Given the description of an element on the screen output the (x, y) to click on. 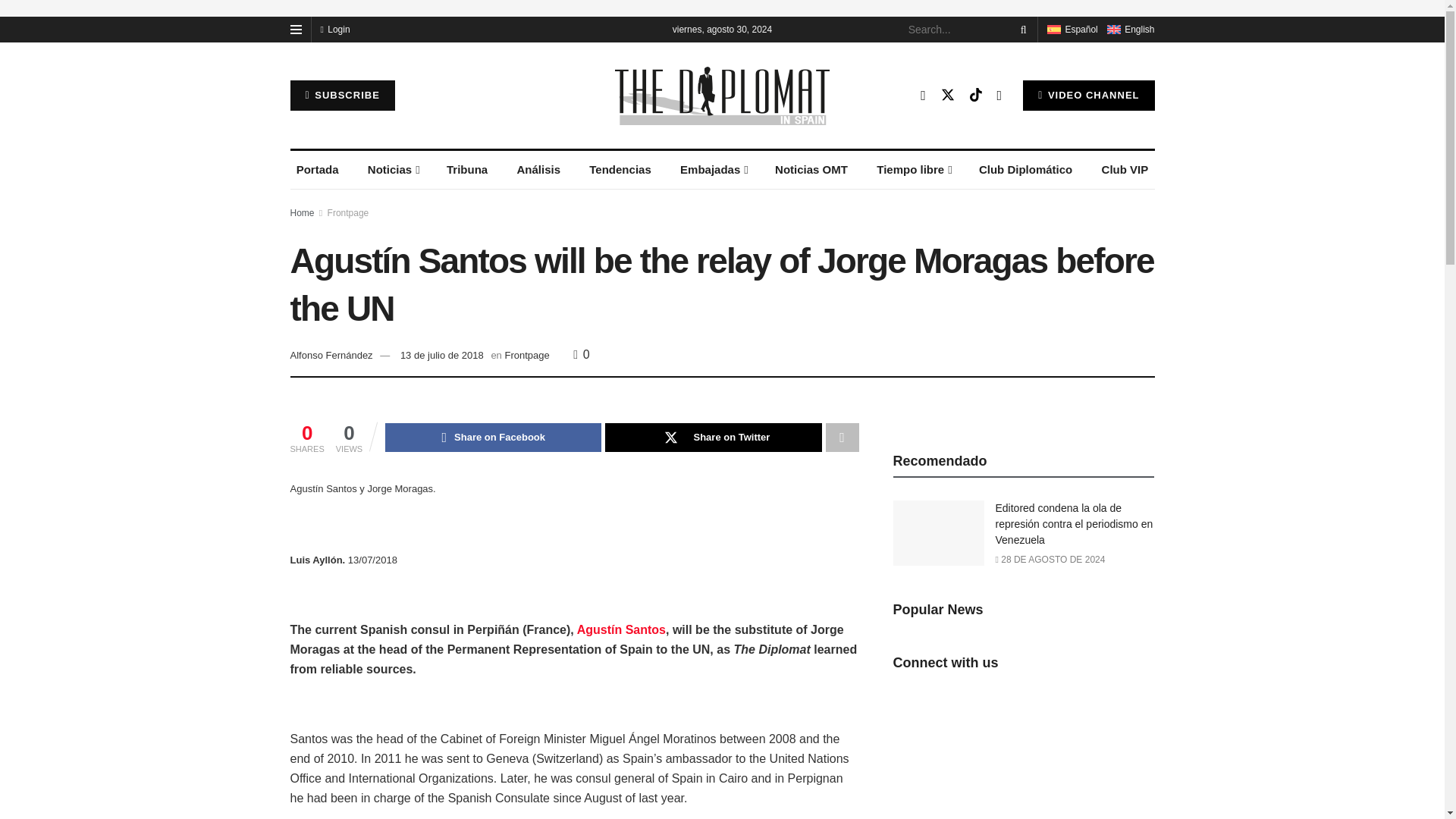
Noticias OMT (810, 169)
SUBSCRIBE (341, 95)
VIDEO CHANNEL (1088, 95)
Tiempo libre (913, 169)
English (1113, 29)
Login (334, 29)
English (1130, 29)
Embajadas (713, 169)
Portada (316, 169)
Noticias (392, 169)
